Given the description of an element on the screen output the (x, y) to click on. 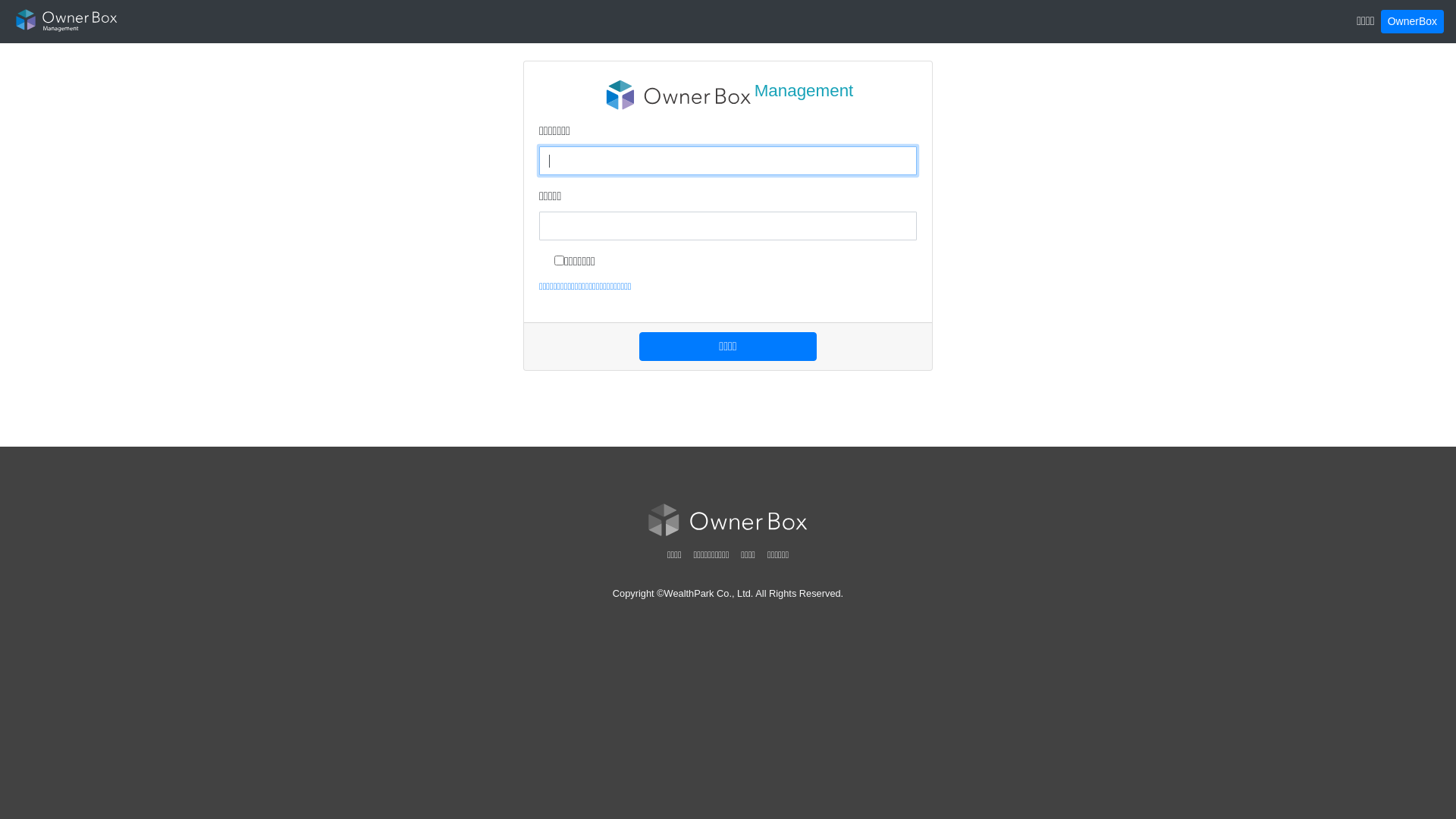
OwnerBox Element type: text (1411, 21)
